Given the description of an element on the screen output the (x, y) to click on. 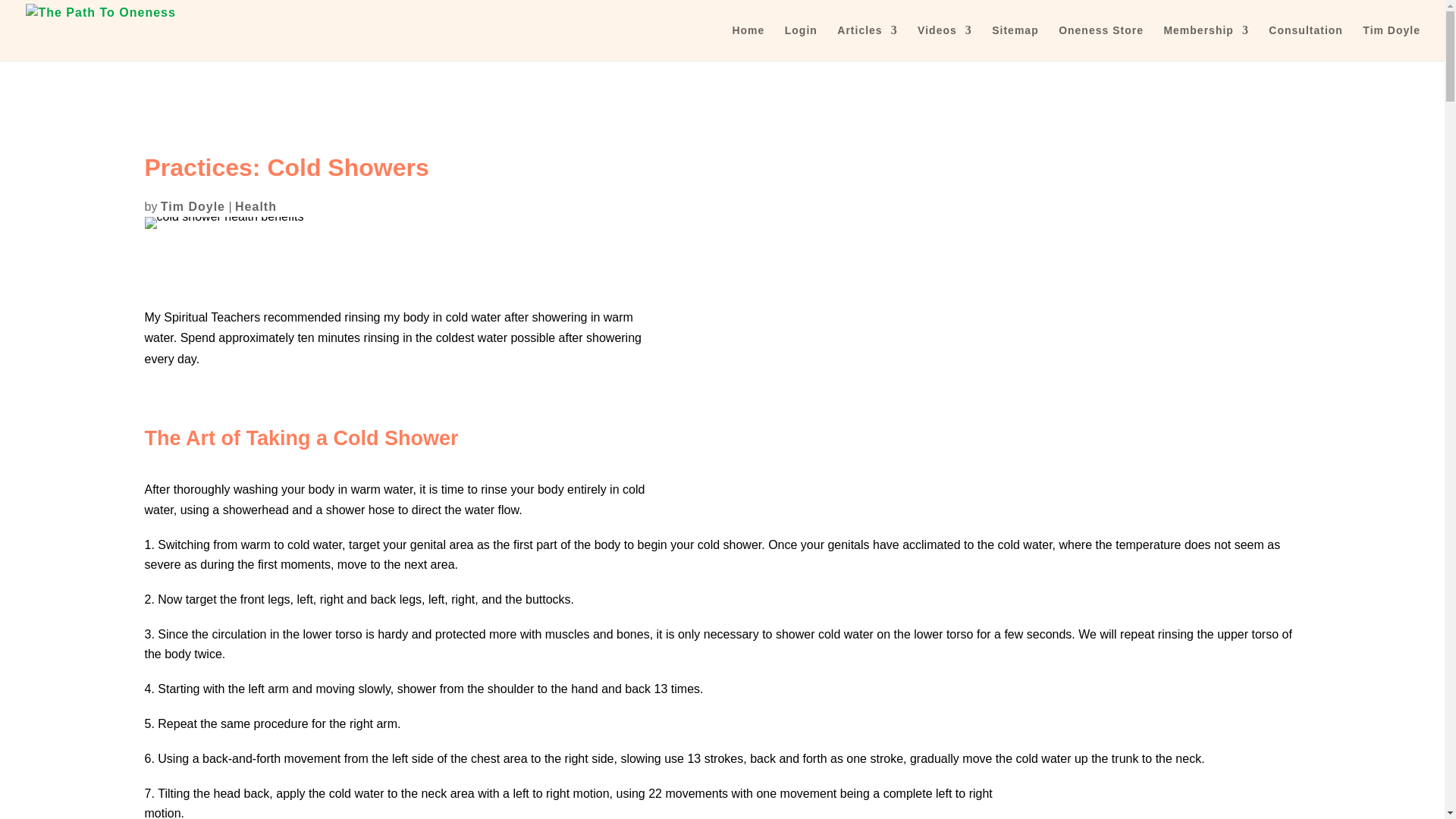
Tim Doyle (192, 205)
cold shower health benefits (223, 223)
Membership (1205, 42)
Health (255, 205)
Consultation (1305, 42)
Videos (944, 42)
Home (748, 42)
Oneness Store (1100, 42)
Tim Doyle (1391, 42)
Articles (866, 42)
